Given the description of an element on the screen output the (x, y) to click on. 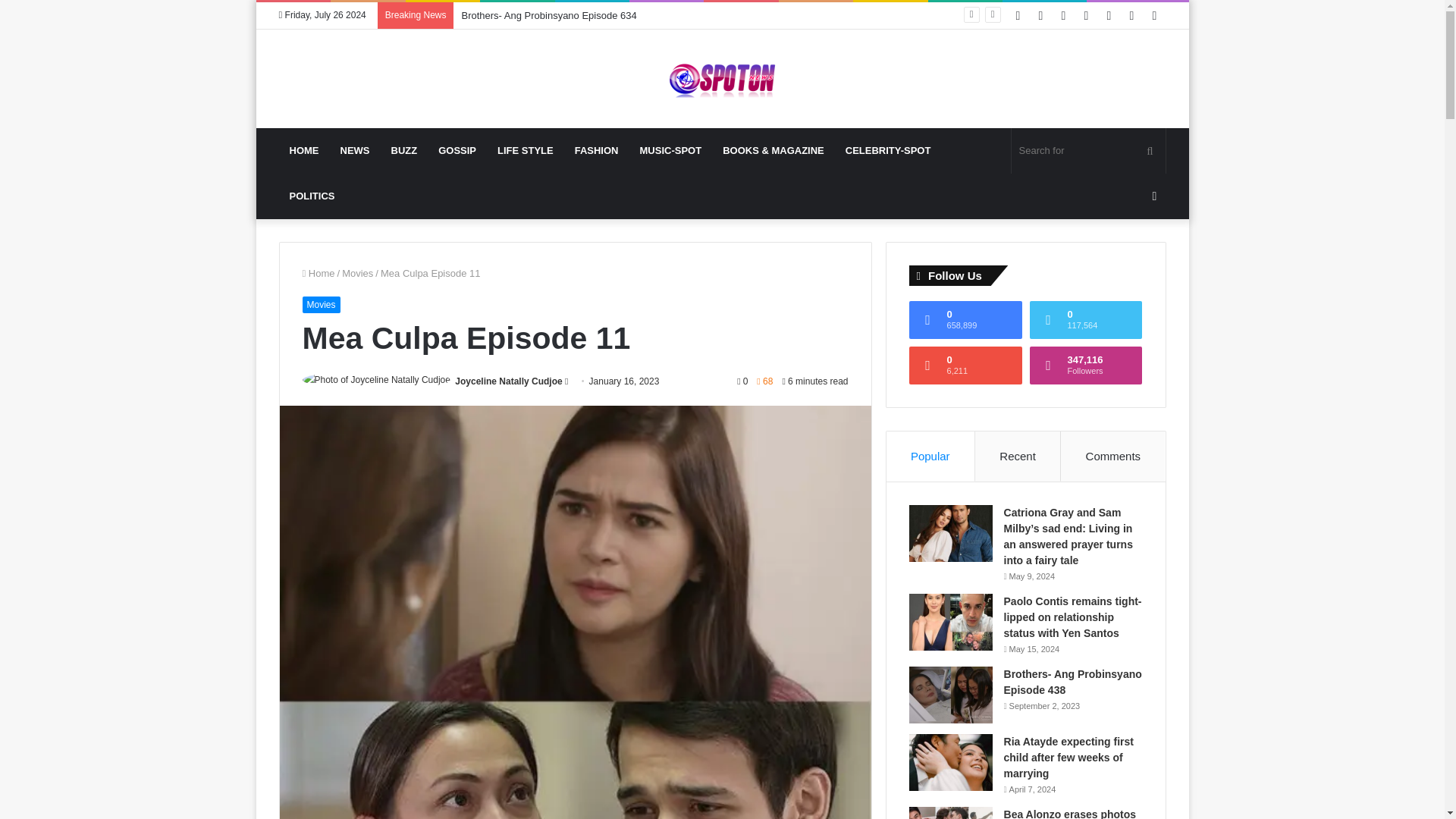
GOSSIP (457, 150)
Home (317, 273)
Movies (357, 273)
NEWS (354, 150)
Search for (1088, 150)
BUZZ (404, 150)
Joyceline Natally Cudjoe (508, 380)
HOME (304, 150)
MUSIC-SPOT (670, 150)
FASHION (596, 150)
LIFE STYLE (525, 150)
CELEBRITY-SPOT (888, 150)
Movies (320, 304)
SpotOnNews (721, 78)
Brothers- Ang Probinsyano Episode 634 (548, 15)
